Given the description of an element on the screen output the (x, y) to click on. 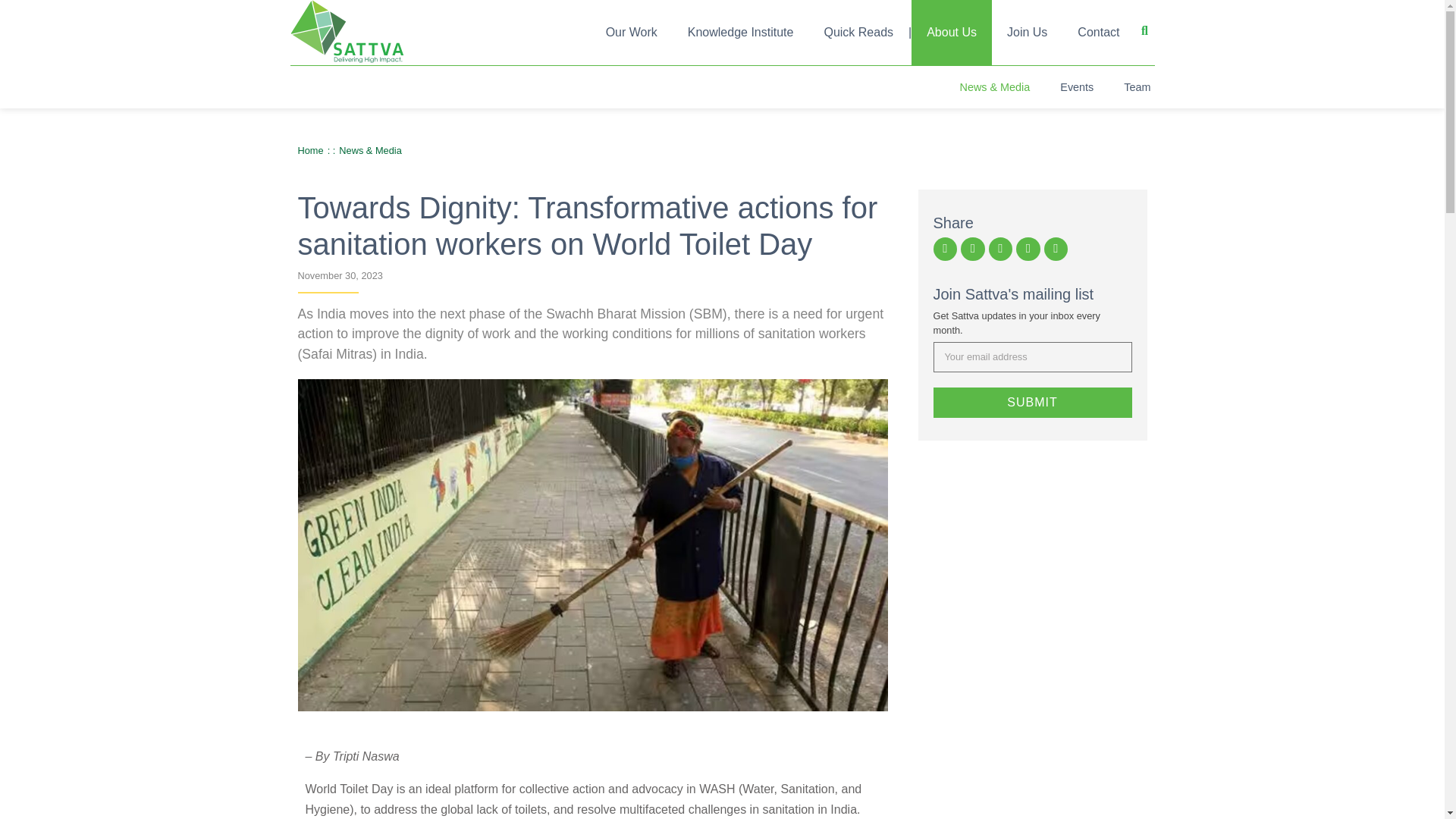
Knowledge Institute (740, 32)
Team (1137, 86)
Join Us (1026, 32)
Our Work (631, 32)
Contact (1098, 32)
Events (1076, 86)
Quick Reads (858, 32)
About Us (951, 32)
